Given the description of an element on the screen output the (x, y) to click on. 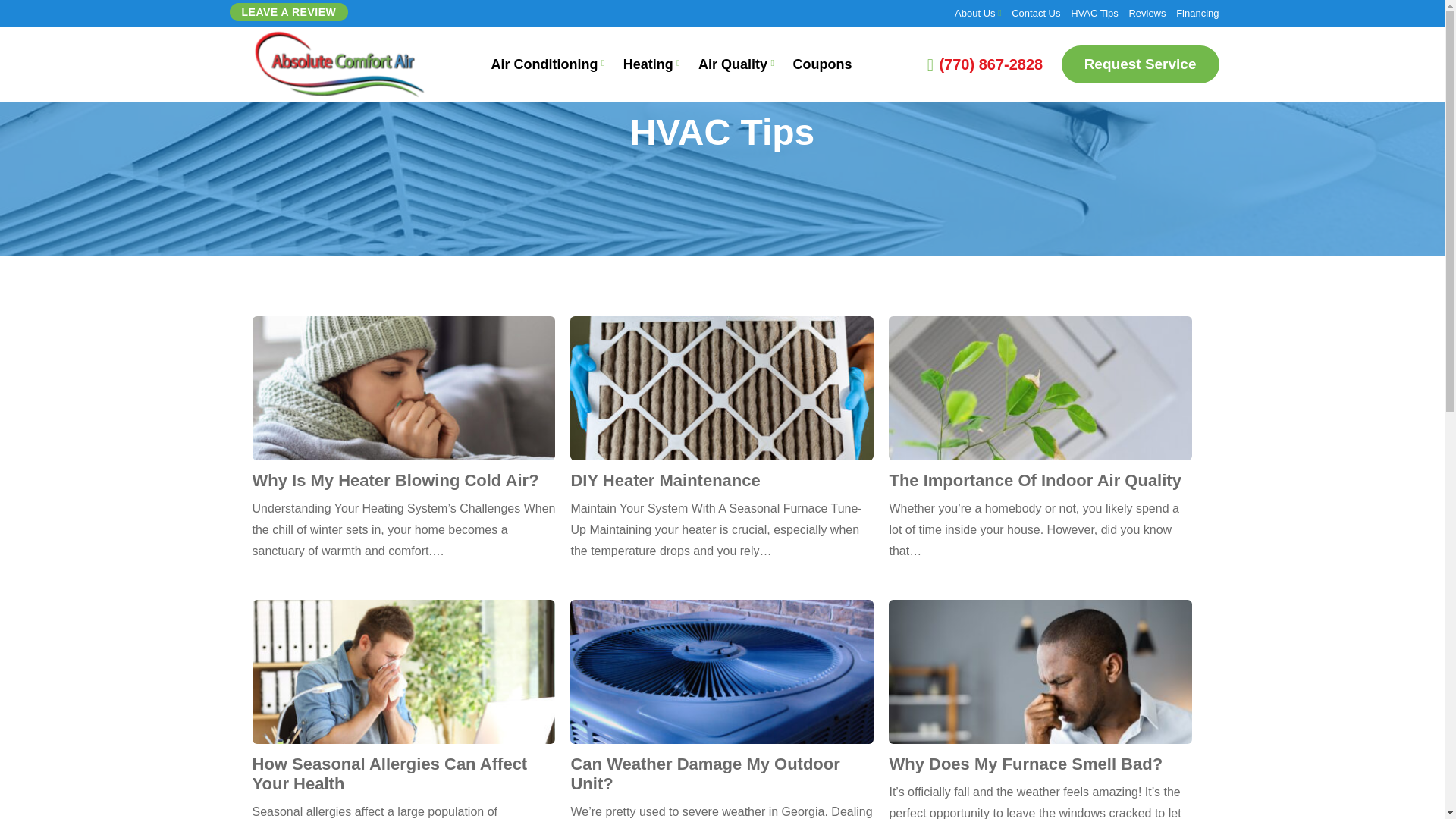
Air Quality (732, 64)
Request Service (1140, 64)
About Us (974, 12)
Financing (1197, 12)
Contact Us (1035, 12)
HVAC Tips (1094, 12)
LEAVE A REVIEW (287, 12)
Reviews (1147, 12)
Coupons (821, 64)
Air Conditioning (545, 64)
